Given the description of an element on the screen output the (x, y) to click on. 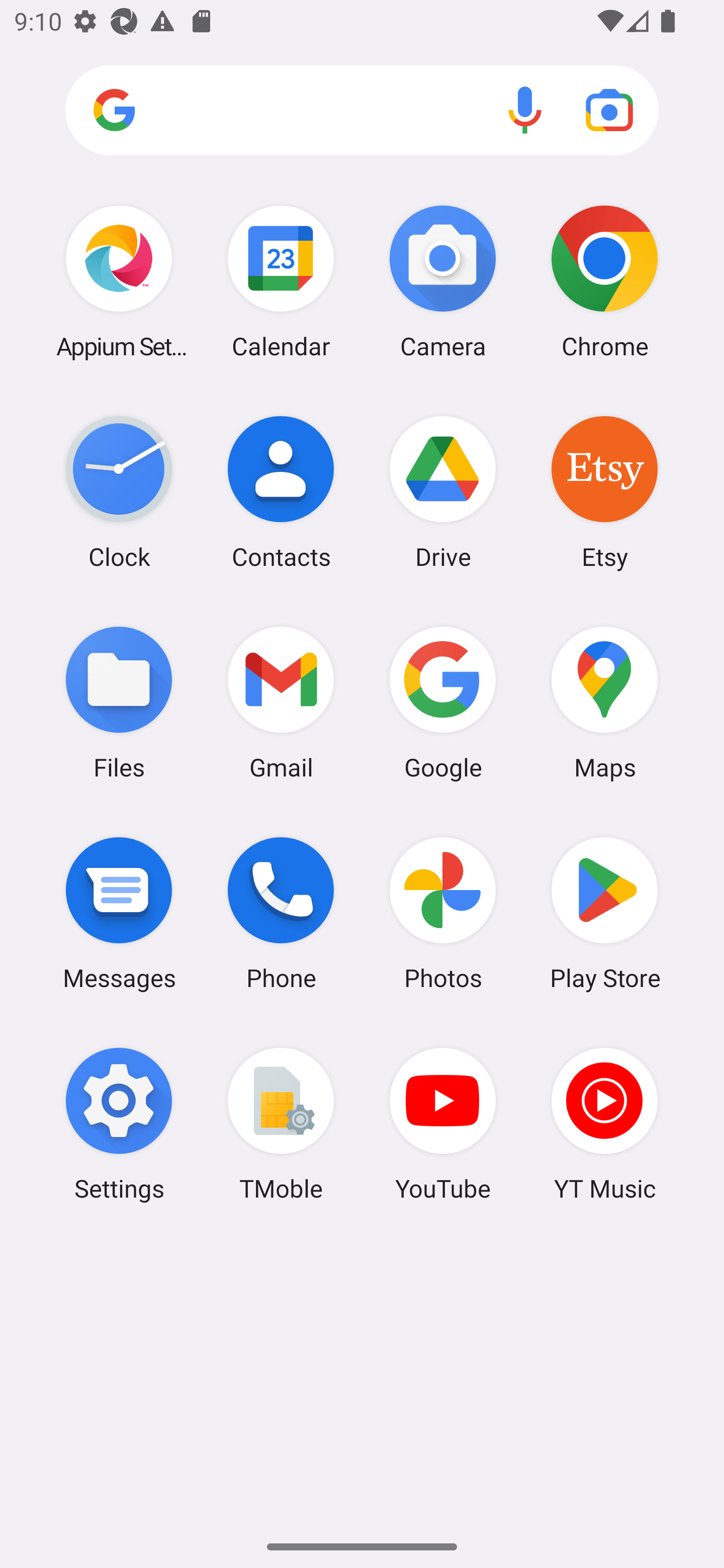
Search apps, web and more (361, 110)
Voice search (524, 109)
Google Lens (608, 109)
Appium Settings (118, 281)
Calendar (280, 281)
Camera (443, 281)
Chrome (604, 281)
Clock (118, 492)
Contacts (280, 492)
Drive (443, 492)
Etsy (604, 492)
Files (118, 702)
Gmail (280, 702)
Google (443, 702)
Maps (604, 702)
Messages (118, 913)
Phone (280, 913)
Photos (443, 913)
Play Store (604, 913)
Settings (118, 1124)
TMoble (280, 1124)
YouTube (443, 1124)
YT Music (604, 1124)
